Given the description of an element on the screen output the (x, y) to click on. 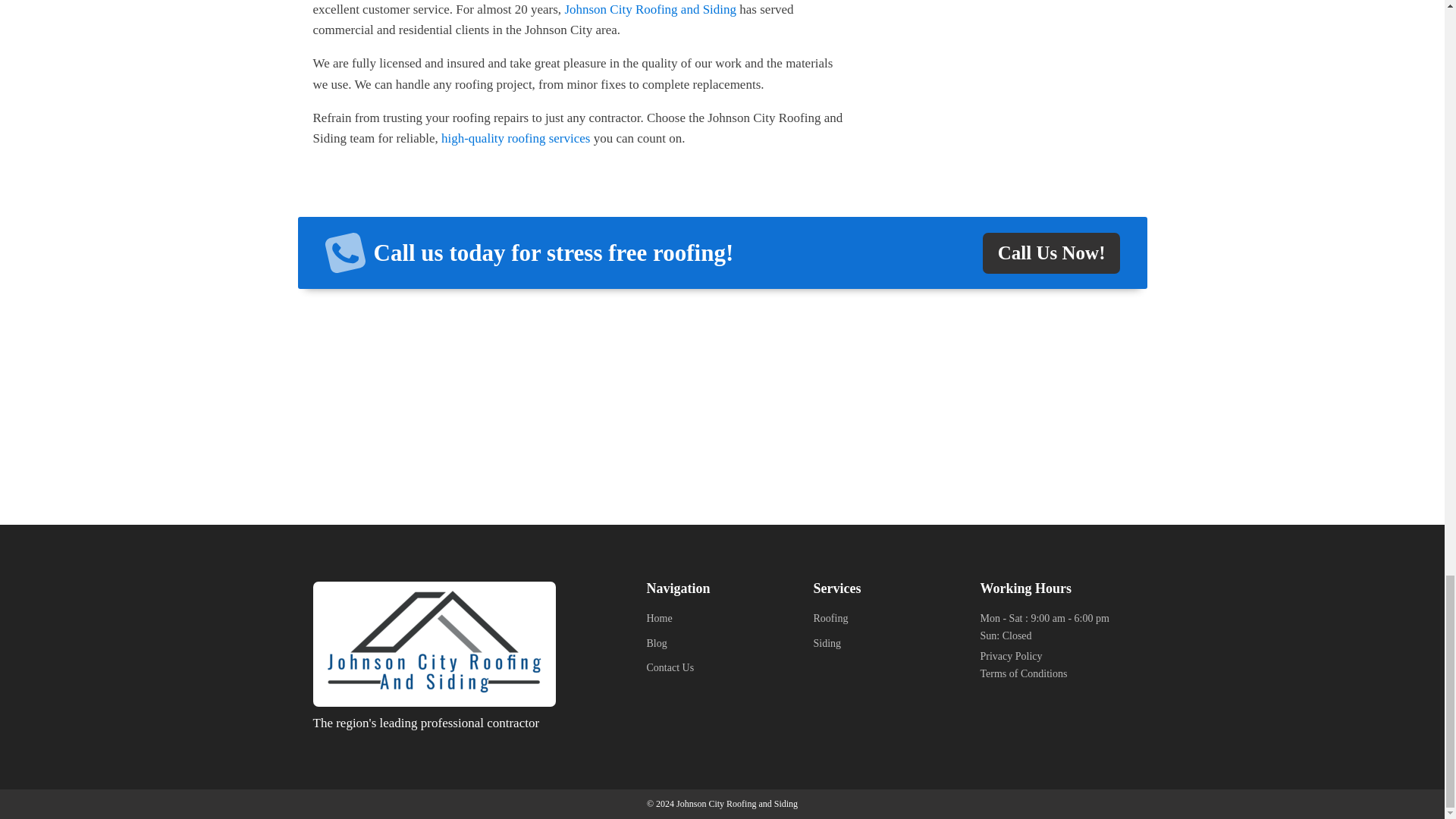
high-quality roofing services (515, 138)
Terms of Conditions (1023, 673)
Call Us Now! (1051, 252)
Privacy Policy (1010, 656)
Johnson City Roofing and Siding (650, 9)
Contact Us (670, 671)
Roofing (829, 622)
Blog (670, 647)
Home (670, 622)
Siding (829, 647)
